Given the description of an element on the screen output the (x, y) to click on. 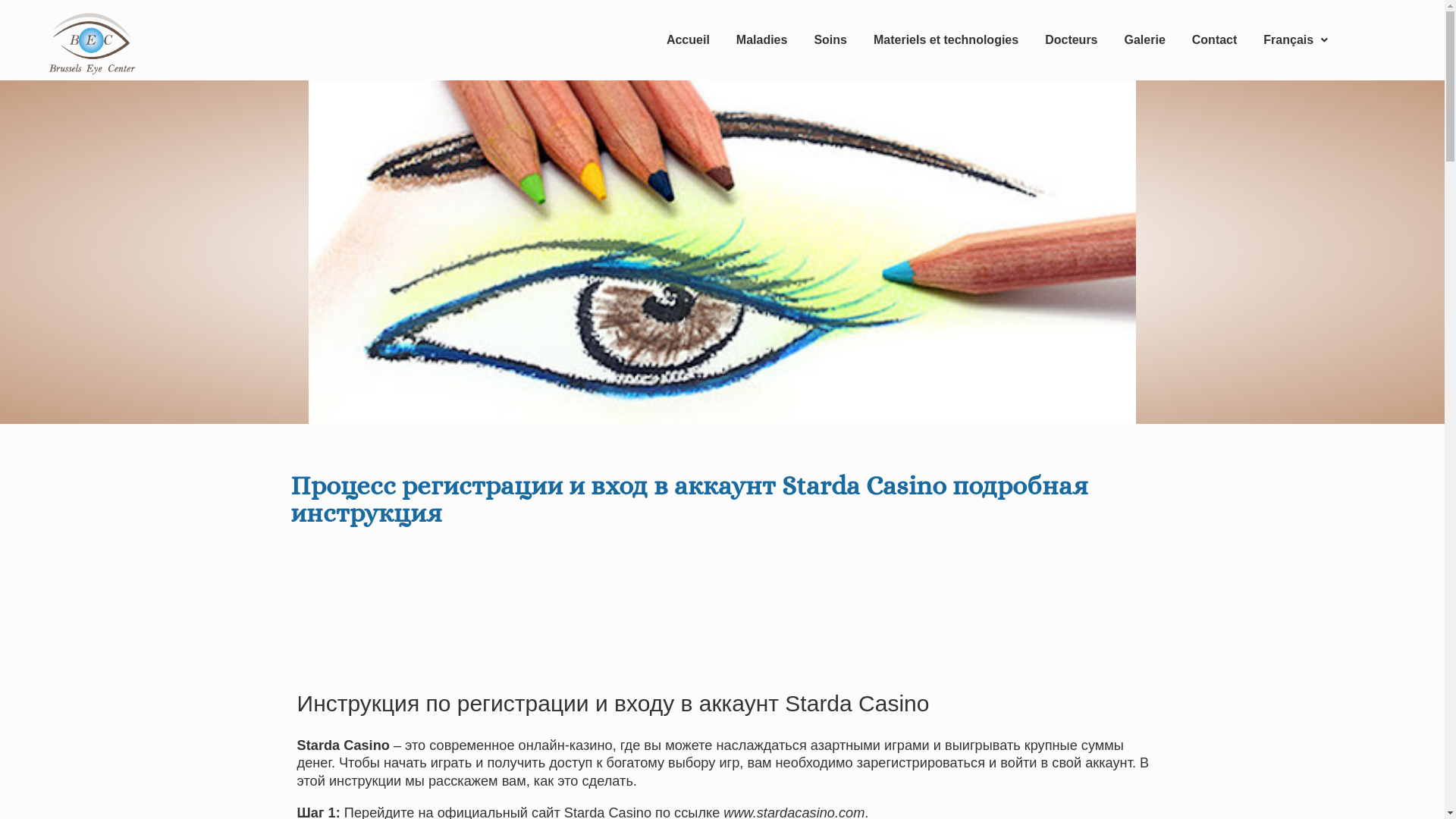
Galerie Element type: text (1144, 39)
Contact Element type: text (1214, 39)
Materiels et technologies Element type: text (945, 39)
Docteurs Element type: text (1071, 39)
Maladies Element type: text (761, 39)
Soins Element type: text (829, 39)
Accueil Element type: text (687, 39)
